Given the description of an element on the screen output the (x, y) to click on. 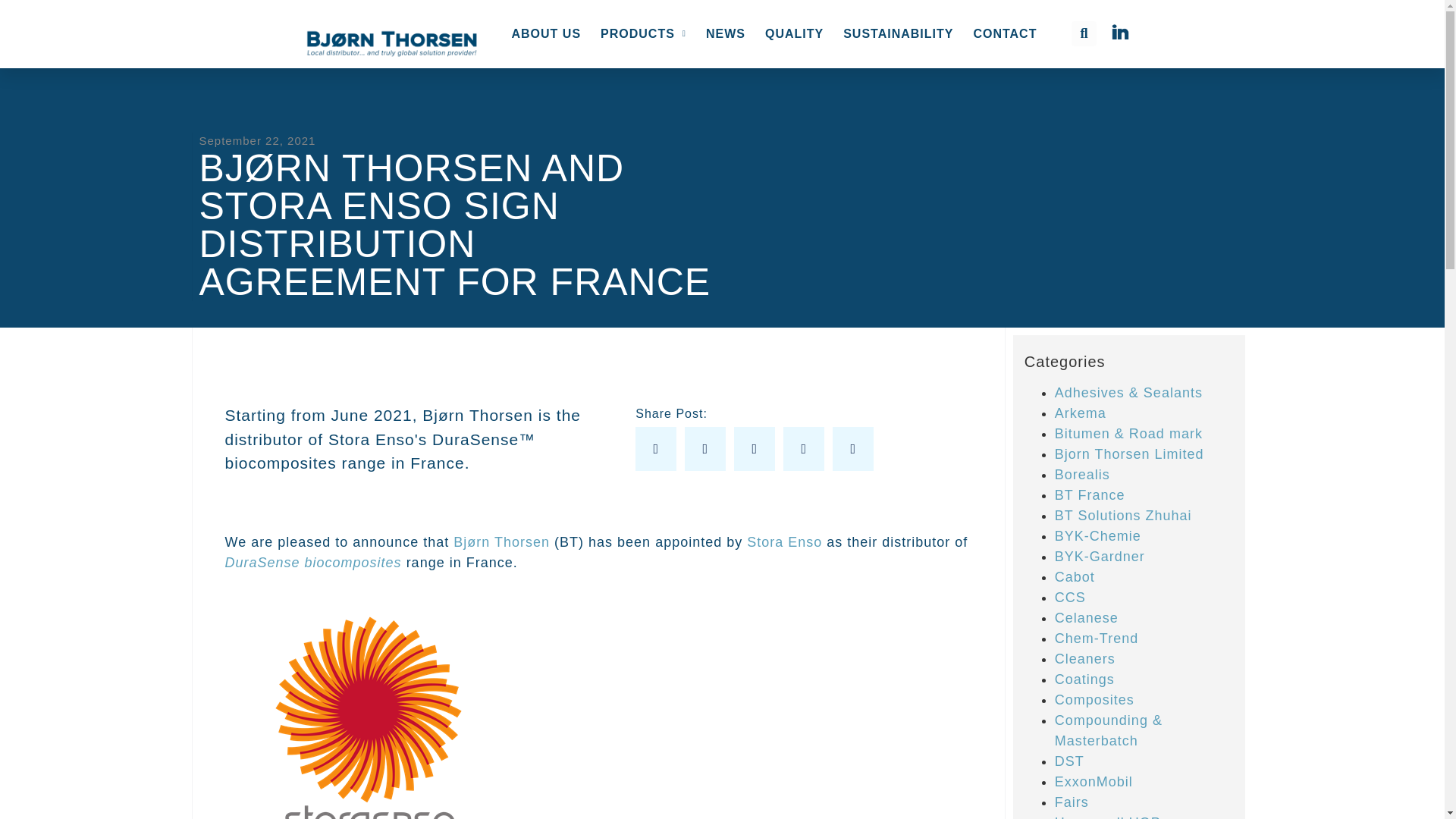
ABOUT US (546, 33)
CONTACT (1005, 33)
SUSTAINABILITY (898, 33)
QUALITY (794, 33)
PRODUCTS (643, 33)
